Given the description of an element on the screen output the (x, y) to click on. 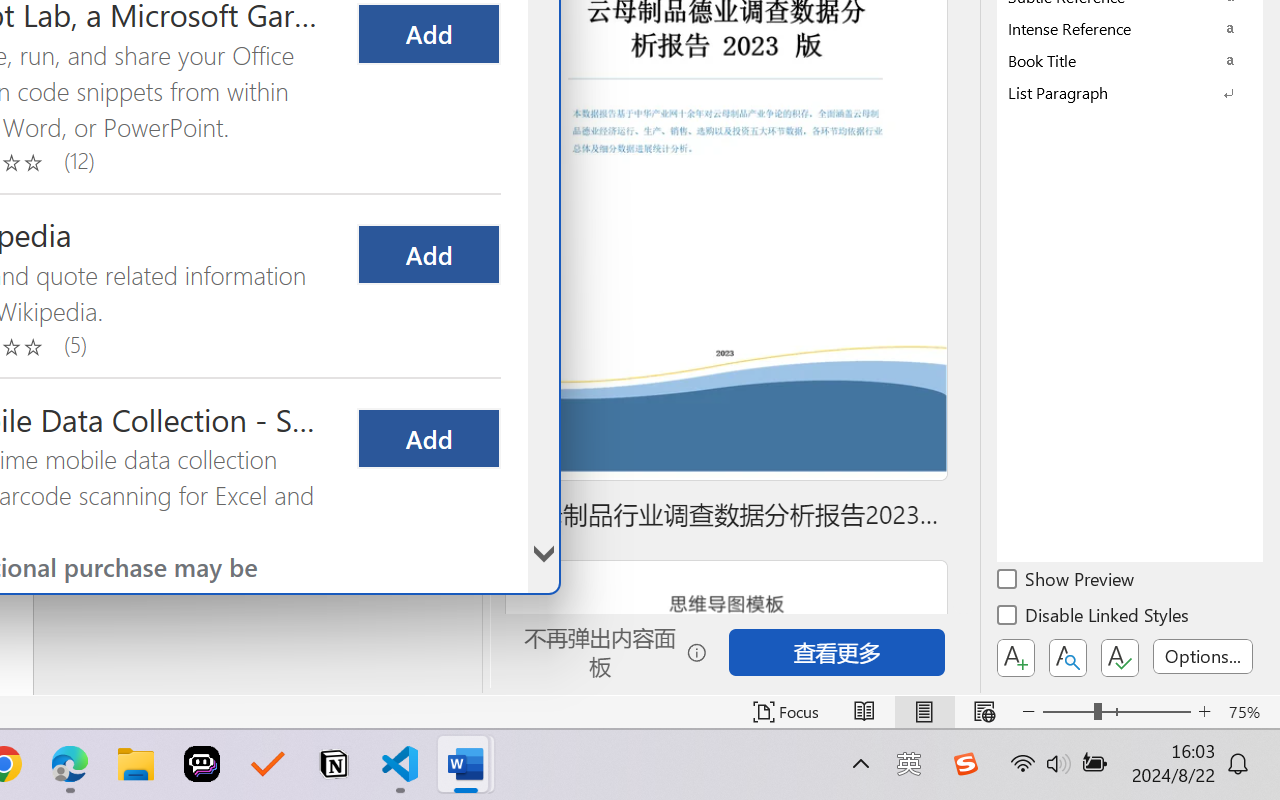
List Paragraph (1130, 92)
Zoom In (1204, 712)
Add Script Lab, a Microsoft Garage project (428, 33)
Book Title (1130, 60)
